Given the description of an element on the screen output the (x, y) to click on. 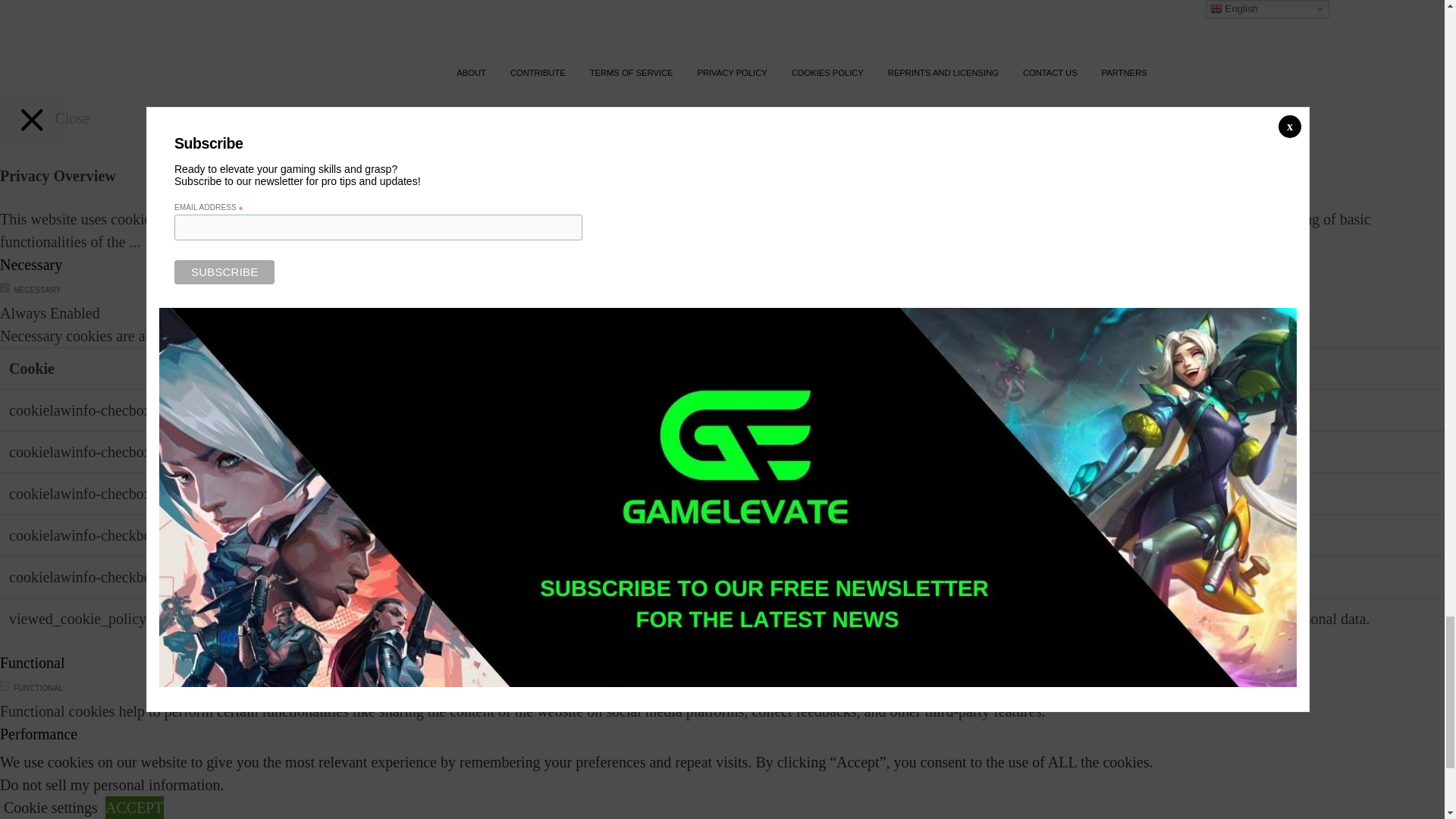
on (5, 757)
on (5, 287)
on (5, 685)
